Given the description of an element on the screen output the (x, y) to click on. 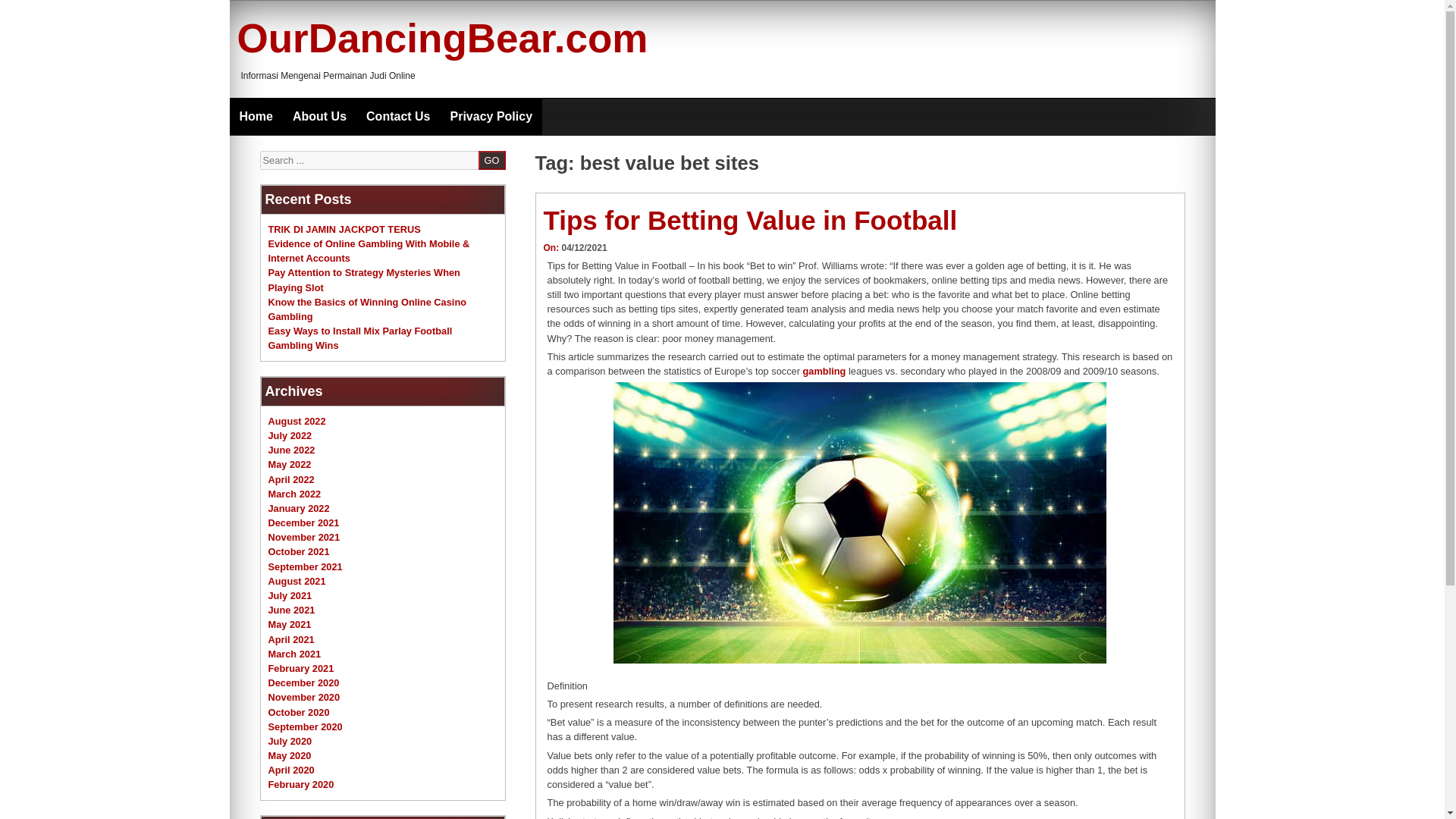
TRIK DI JAMIN JACKPOT TERUS (343, 229)
May 2022 (289, 464)
June 2021 (291, 609)
September 2021 (304, 566)
January 2022 (298, 508)
Contact Us (397, 116)
December 2021 (303, 522)
October 2021 (298, 551)
Pay Attention to Strategy Mysteries When Playing Slot (363, 279)
GO (492, 158)
March 2022 (294, 493)
June 2022 (291, 449)
Easy Ways to Install Mix Parlay Football Gambling Wins (359, 338)
July 2022 (290, 435)
November 2021 (303, 536)
